Given the description of an element on the screen output the (x, y) to click on. 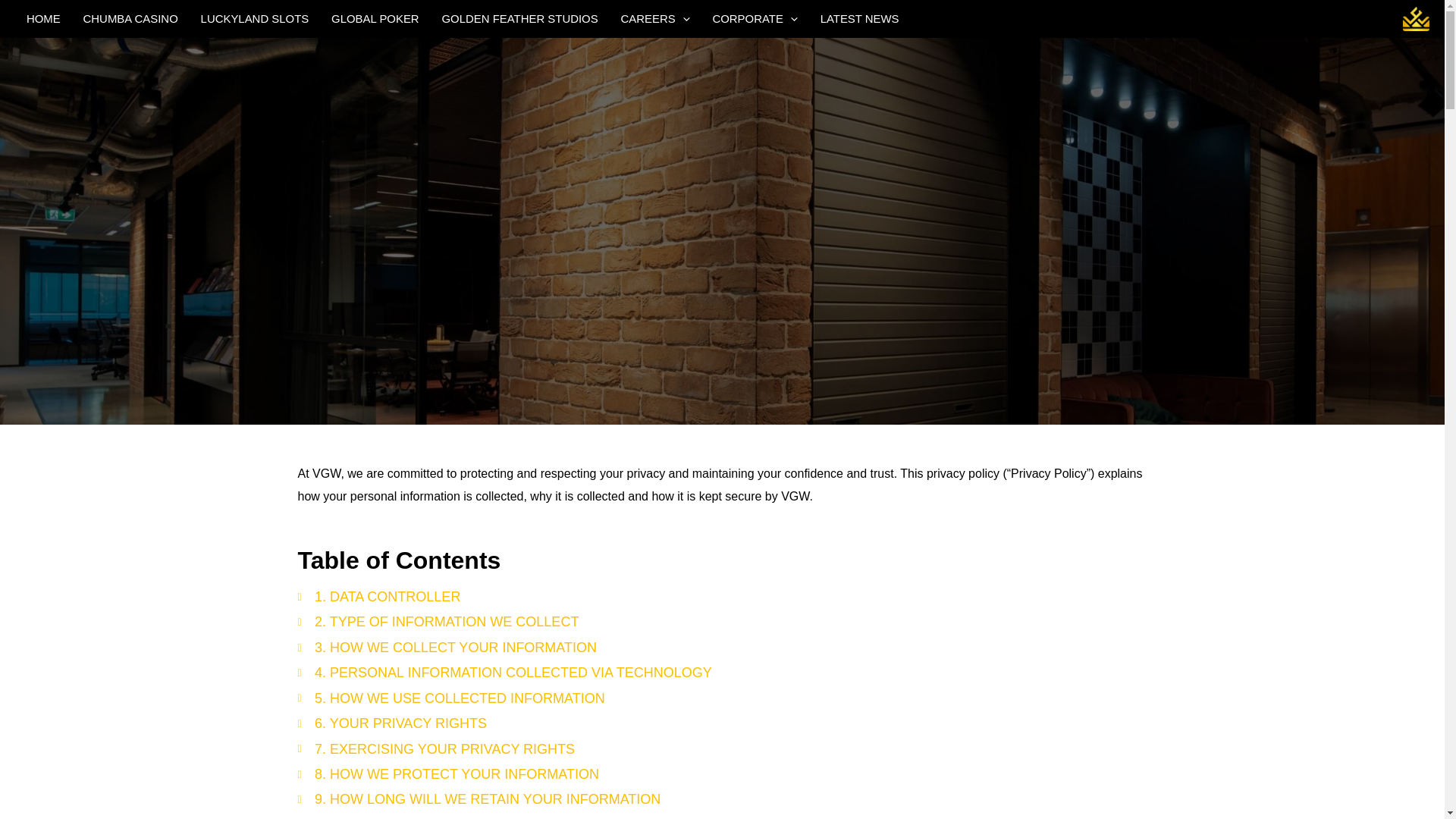
CHUMBA CASINO (130, 18)
HOME (42, 18)
GLOBAL POKER (374, 18)
2. TYPE OF INFORMATION WE COLLECT (722, 621)
LATEST NEWS (860, 18)
GOLDEN FEATHER STUDIOS (520, 18)
1. DATA CONTROLLER (722, 596)
8. HOW WE PROTECT YOUR INFORMATION (722, 774)
CORPORATE (755, 18)
LUCKYLAND SLOTS (254, 18)
